Given the description of an element on the screen output the (x, y) to click on. 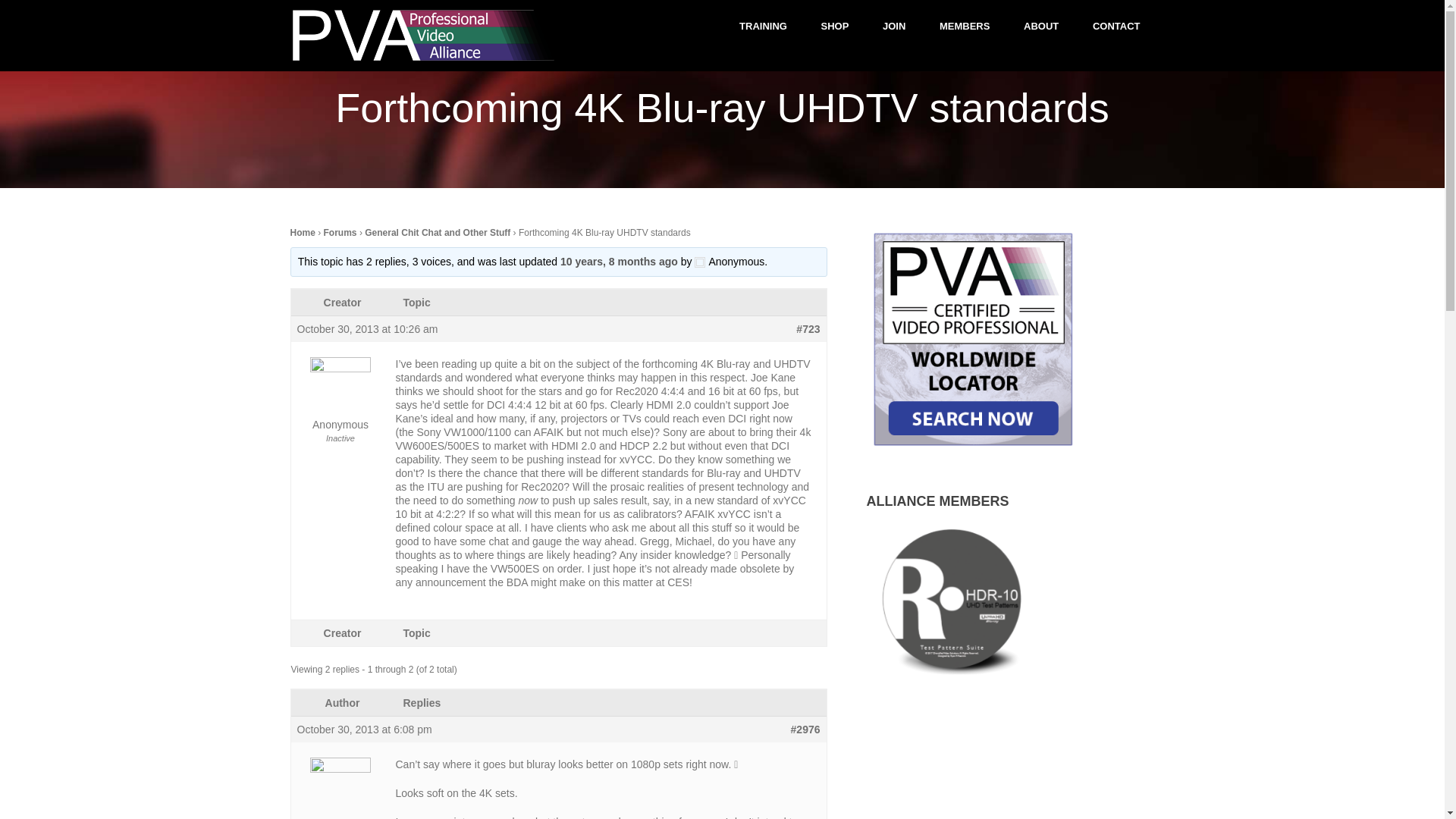
Home (301, 232)
ABOUT (1041, 26)
Forums (339, 232)
MEMBERS (964, 26)
General Chit Chat and Other Stuff (438, 232)
TRAINING (762, 26)
10 years, 8 months ago (619, 262)
Re: Forthcoming 4K Blu-ray UHDTV standards (619, 262)
SHOP (835, 26)
JOIN (893, 26)
CONTACT (1116, 26)
